Given the description of an element on the screen output the (x, y) to click on. 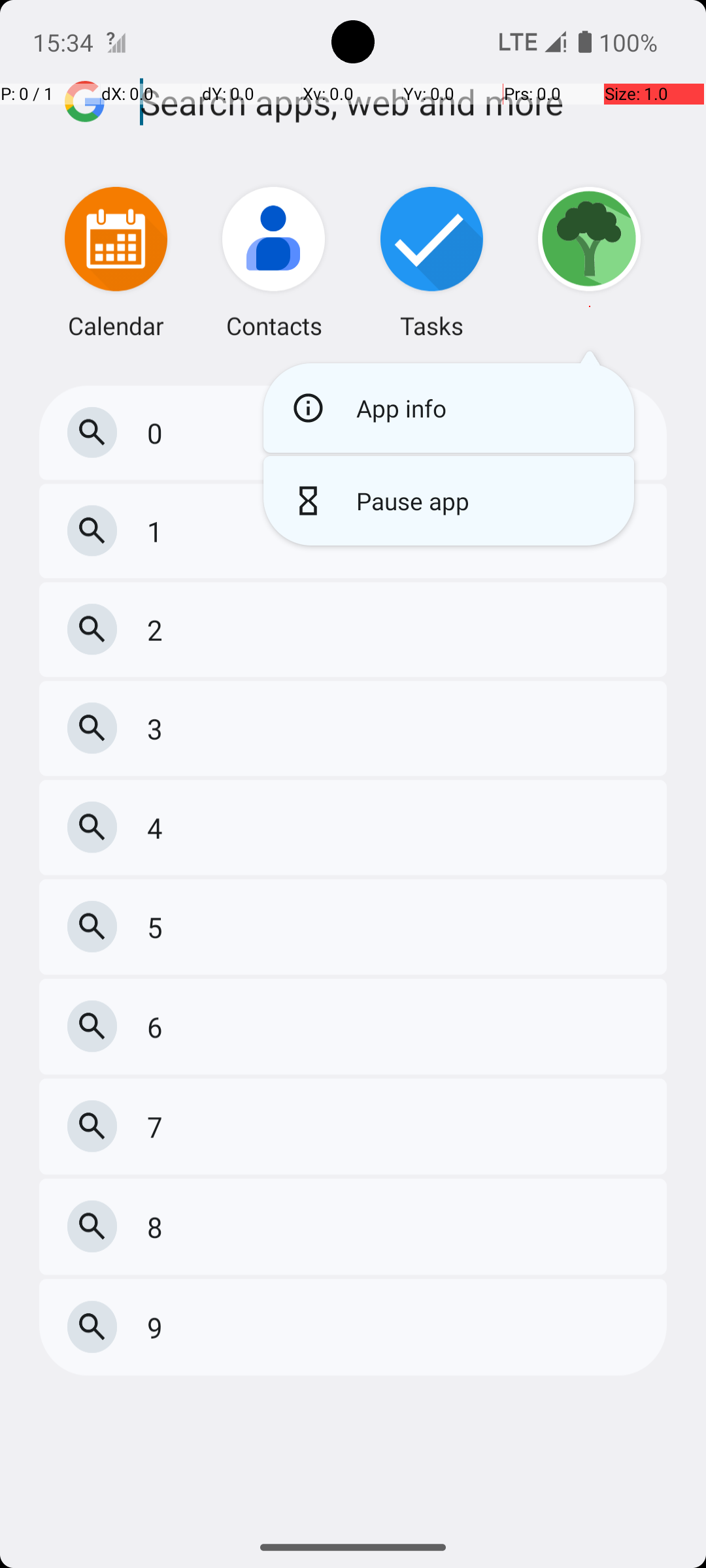
Pause app Element type: android.widget.TextView (448, 500)
